Given the description of an element on the screen output the (x, y) to click on. 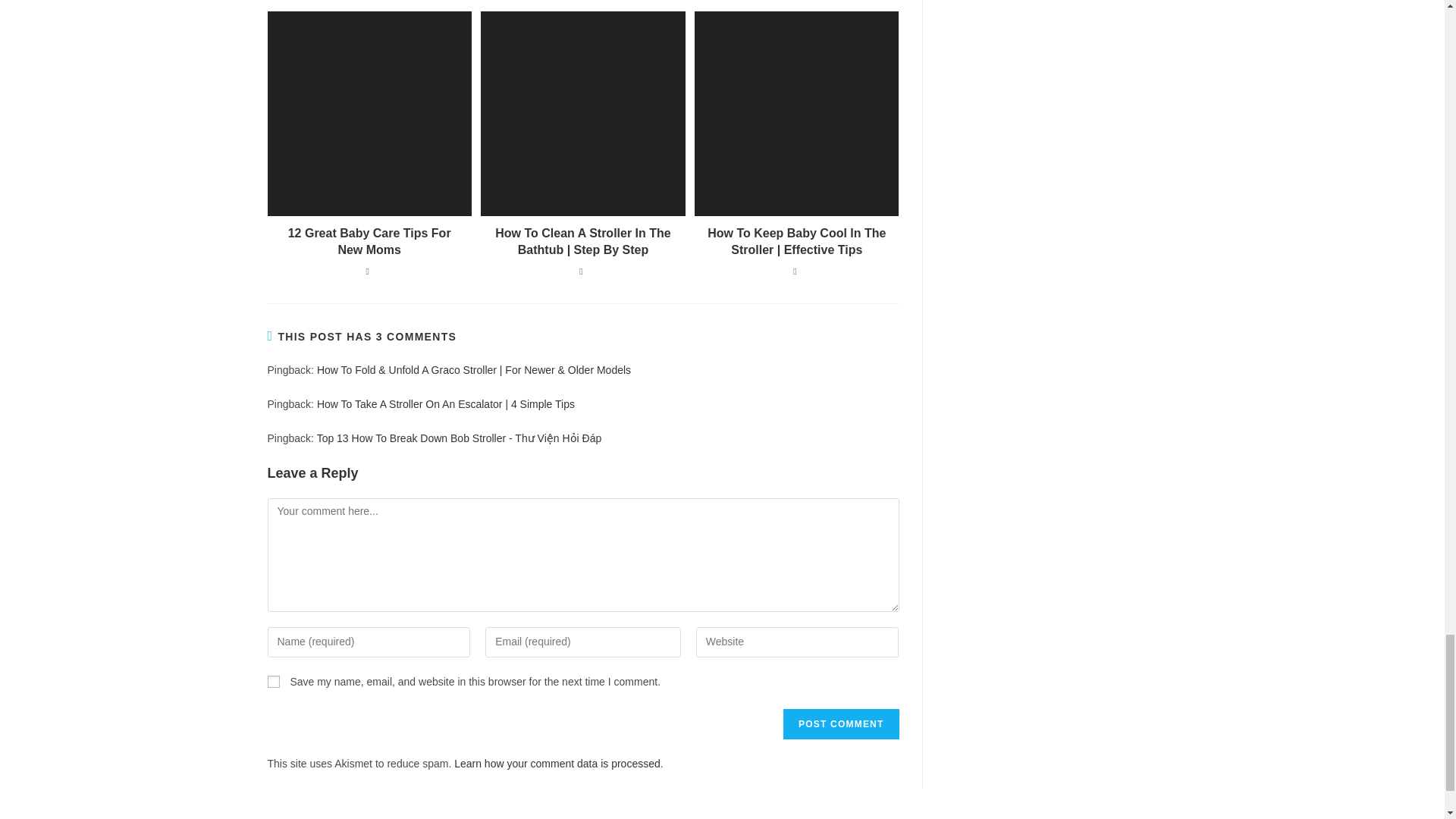
yes (272, 681)
12 Great Baby Care Tips For New Moms (368, 242)
Post Comment (840, 724)
